Given the description of an element on the screen output the (x, y) to click on. 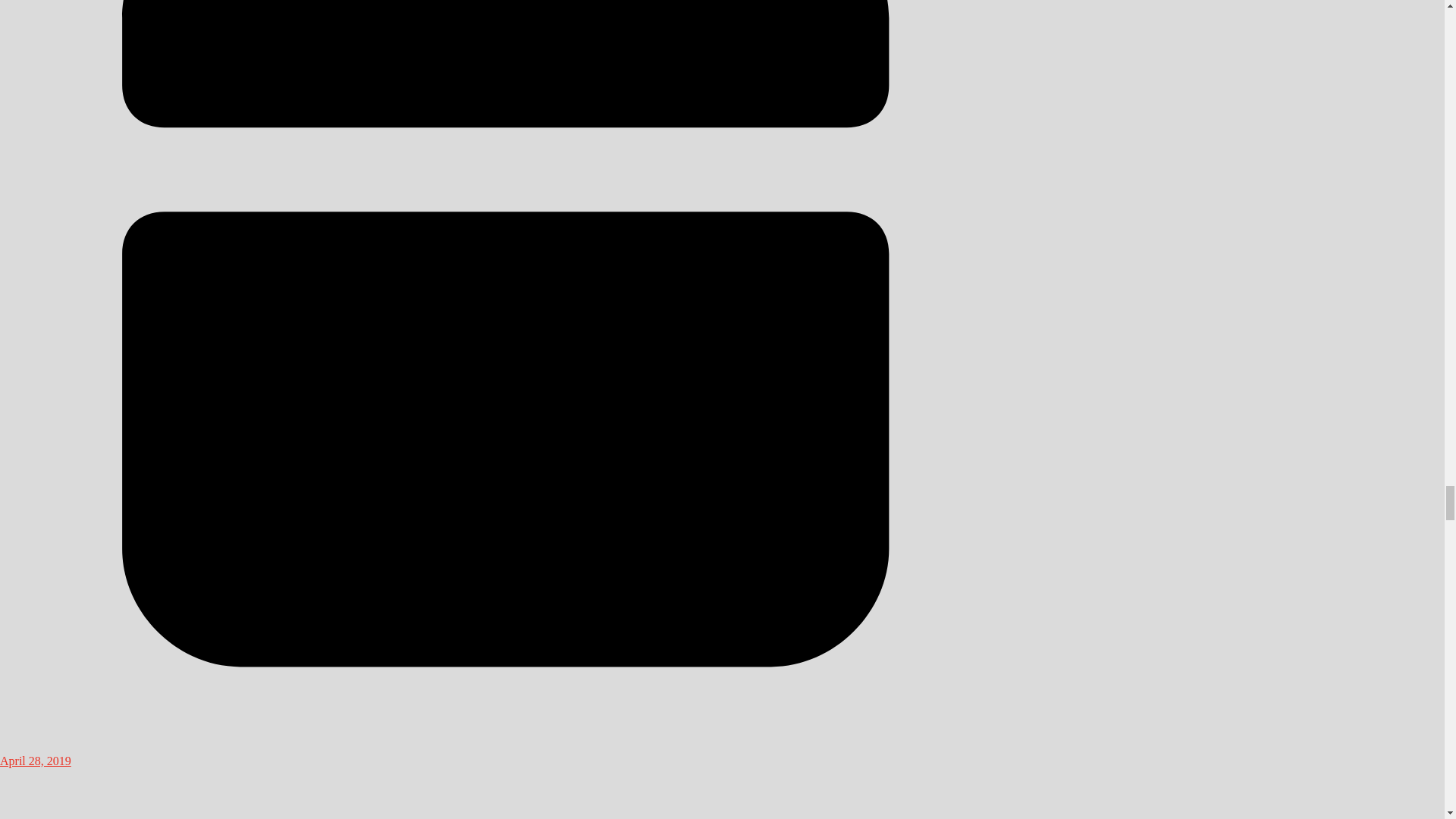
April 28, 2019 (505, 754)
4:16 am (505, 754)
